Given the description of an element on the screen output the (x, y) to click on. 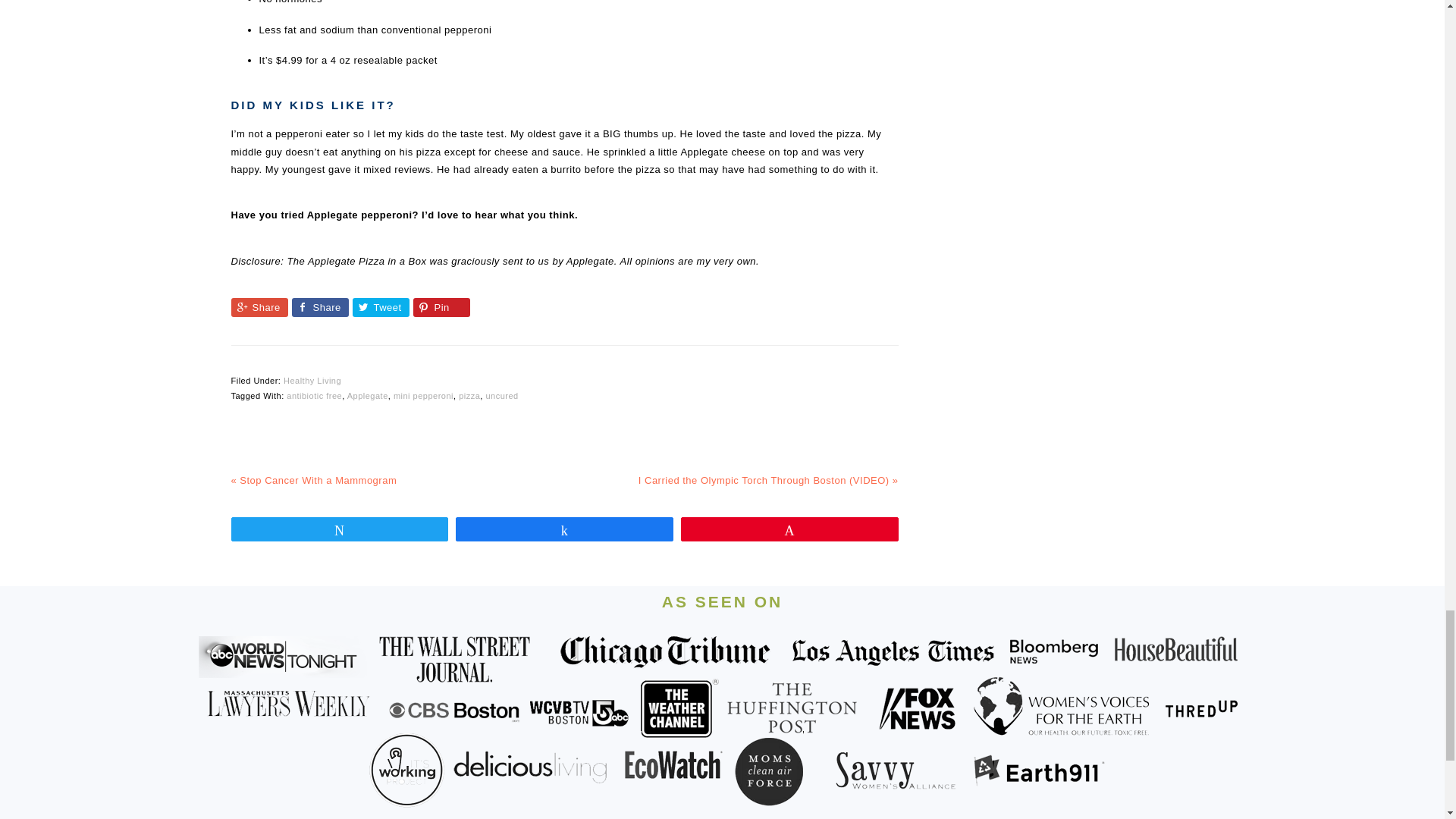
Share (319, 307)
Share (258, 307)
